Given the description of an element on the screen output the (x, y) to click on. 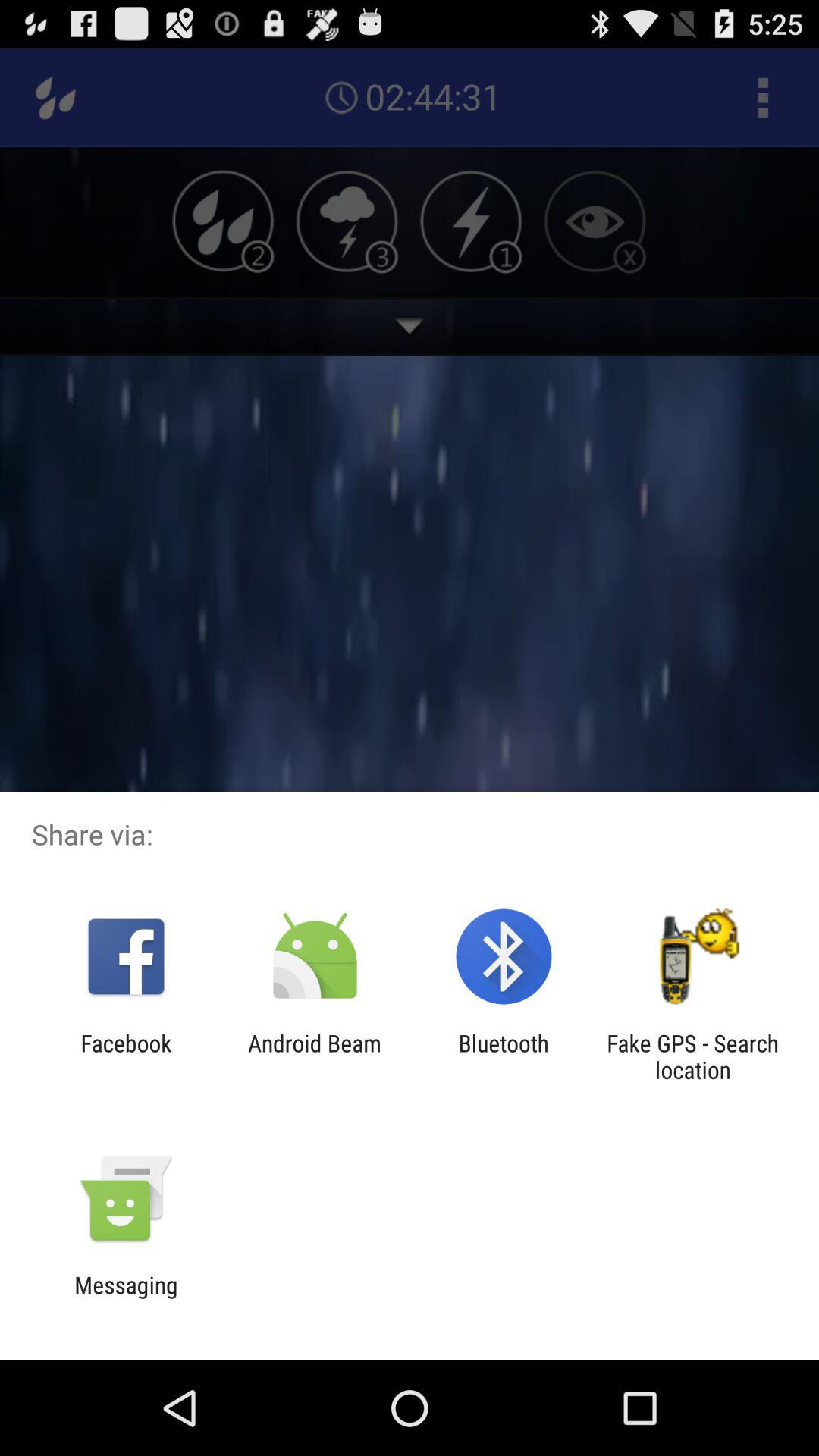
click the messaging (126, 1298)
